Given the description of an element on the screen output the (x, y) to click on. 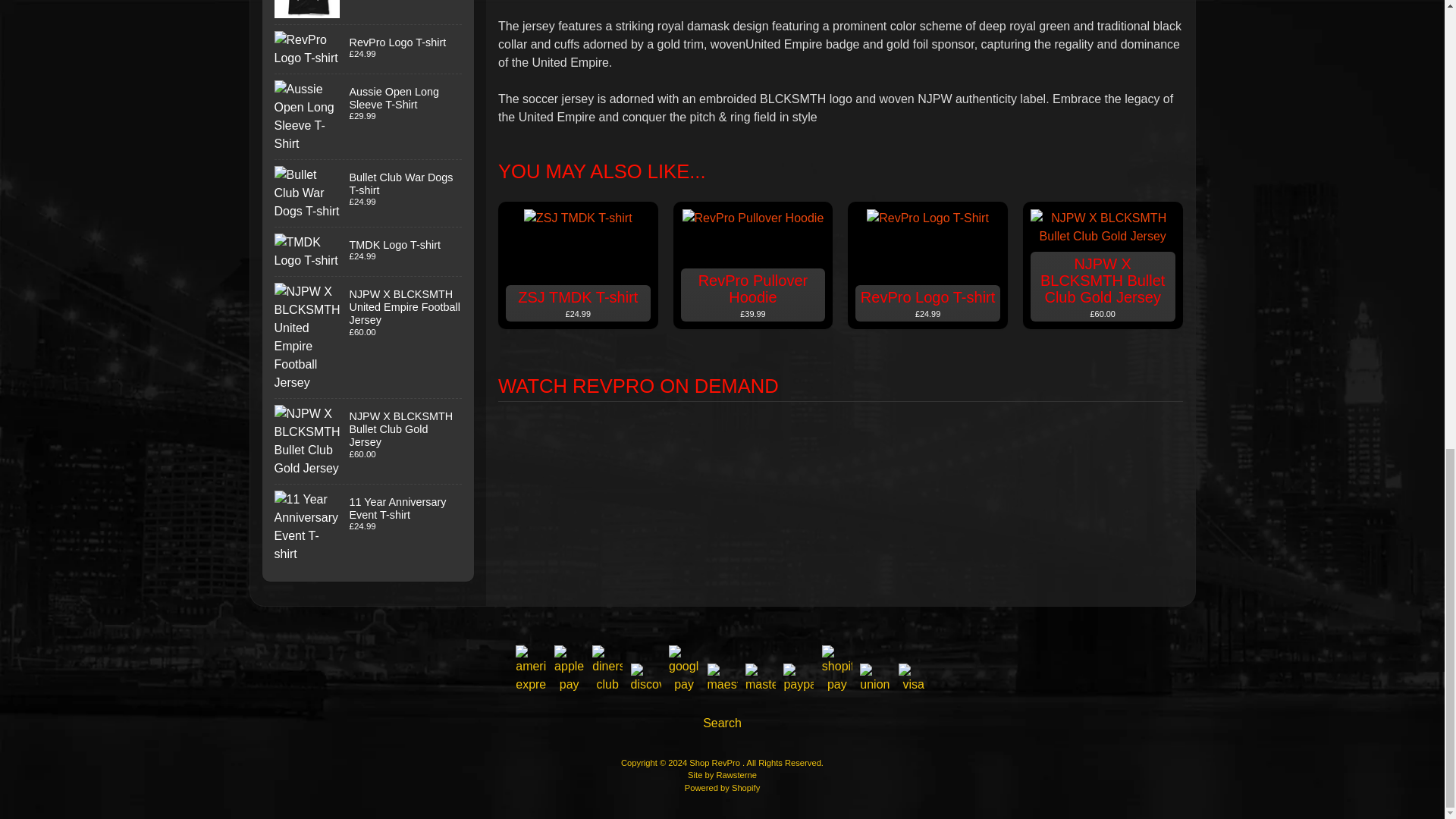
NJPW X BLCKSMTH Bullet Club Gold Jersey (369, 441)
Aussie Open Long Sleeve T-Shirt (369, 116)
WATCH REVPRO ON DEMAND (839, 386)
RevPro Logo T-shirt (369, 49)
TMDK Logo T-shirt (369, 251)
NJPW X BLCKSMTH United Empire Football Jersey (369, 337)
11 Year Anniversary Event T-shirt (369, 526)
WATCH REVPRO ON DEMAND (839, 374)
Bullet Club Classic T-shirt (369, 12)
Bullet Club War Dogs T-shirt (369, 192)
